Given the description of an element on the screen output the (x, y) to click on. 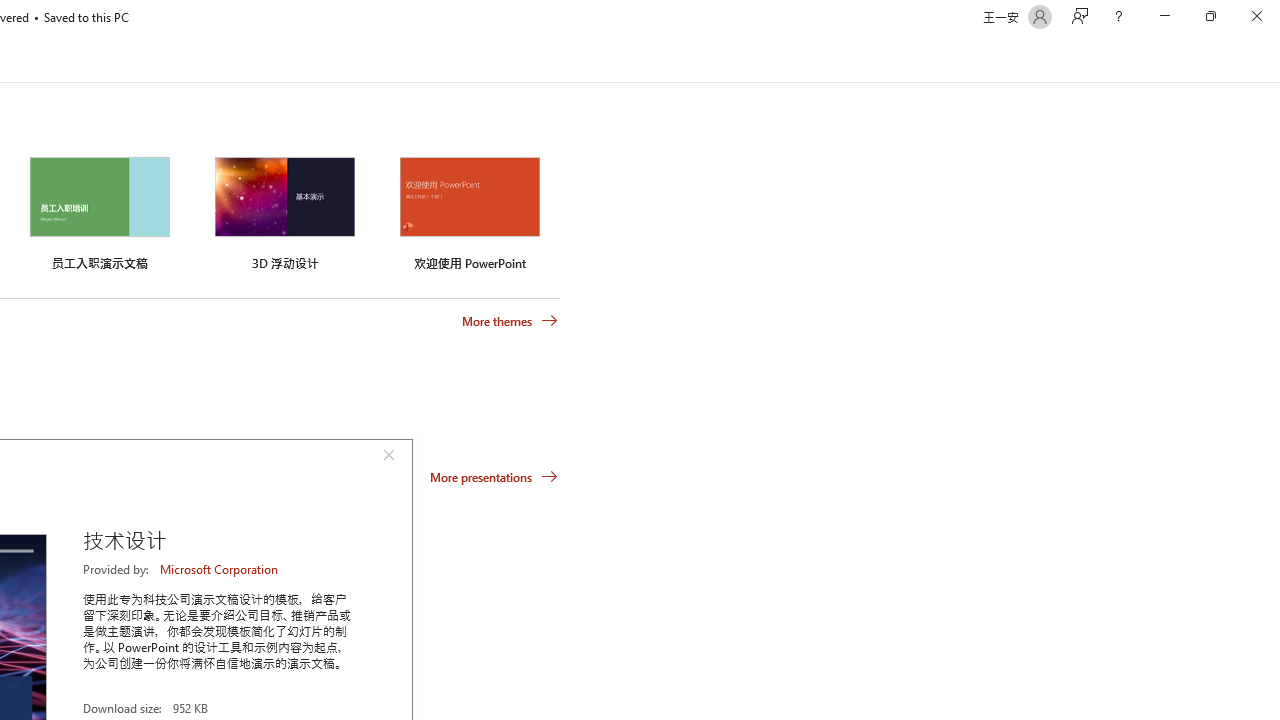
Class: NetUIScrollBar (1271, 59)
Microsoft Corporation (220, 569)
More presentations (493, 476)
More themes (509, 321)
